Given the description of an element on the screen output the (x, y) to click on. 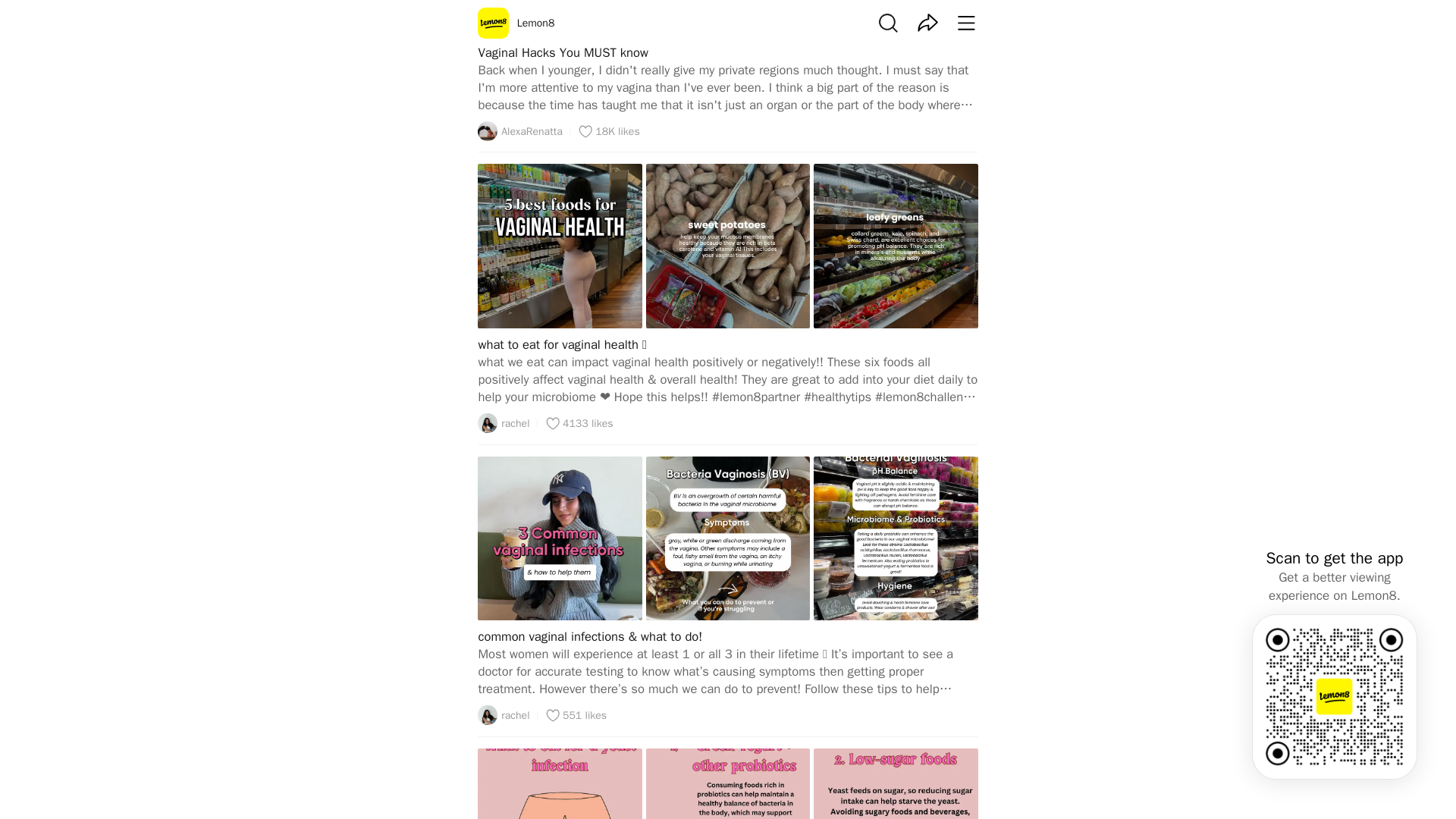
rachel (503, 423)
rachel (503, 714)
AlexaRenatta (519, 130)
